Given the description of an element on the screen output the (x, y) to click on. 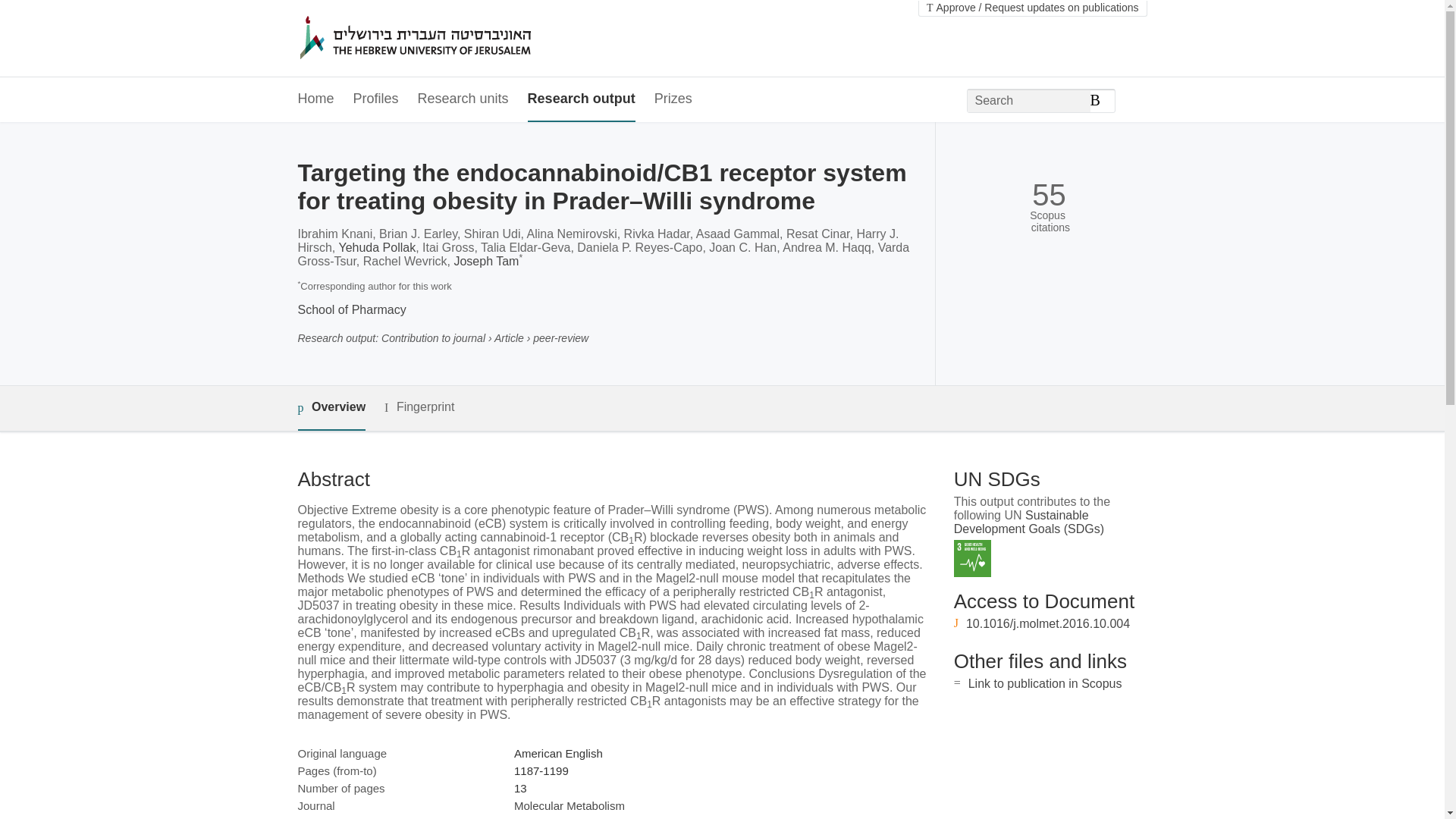
Overview (331, 407)
SDG 3 - Good Health and Well-being (972, 558)
Fingerprint (419, 407)
The Hebrew University of Jerusalem Home (447, 38)
Research units (462, 99)
Profiles (375, 99)
Research output (580, 99)
Molecular Metabolism (568, 805)
Link to publication in Scopus (1045, 683)
